Given the description of an element on the screen output the (x, y) to click on. 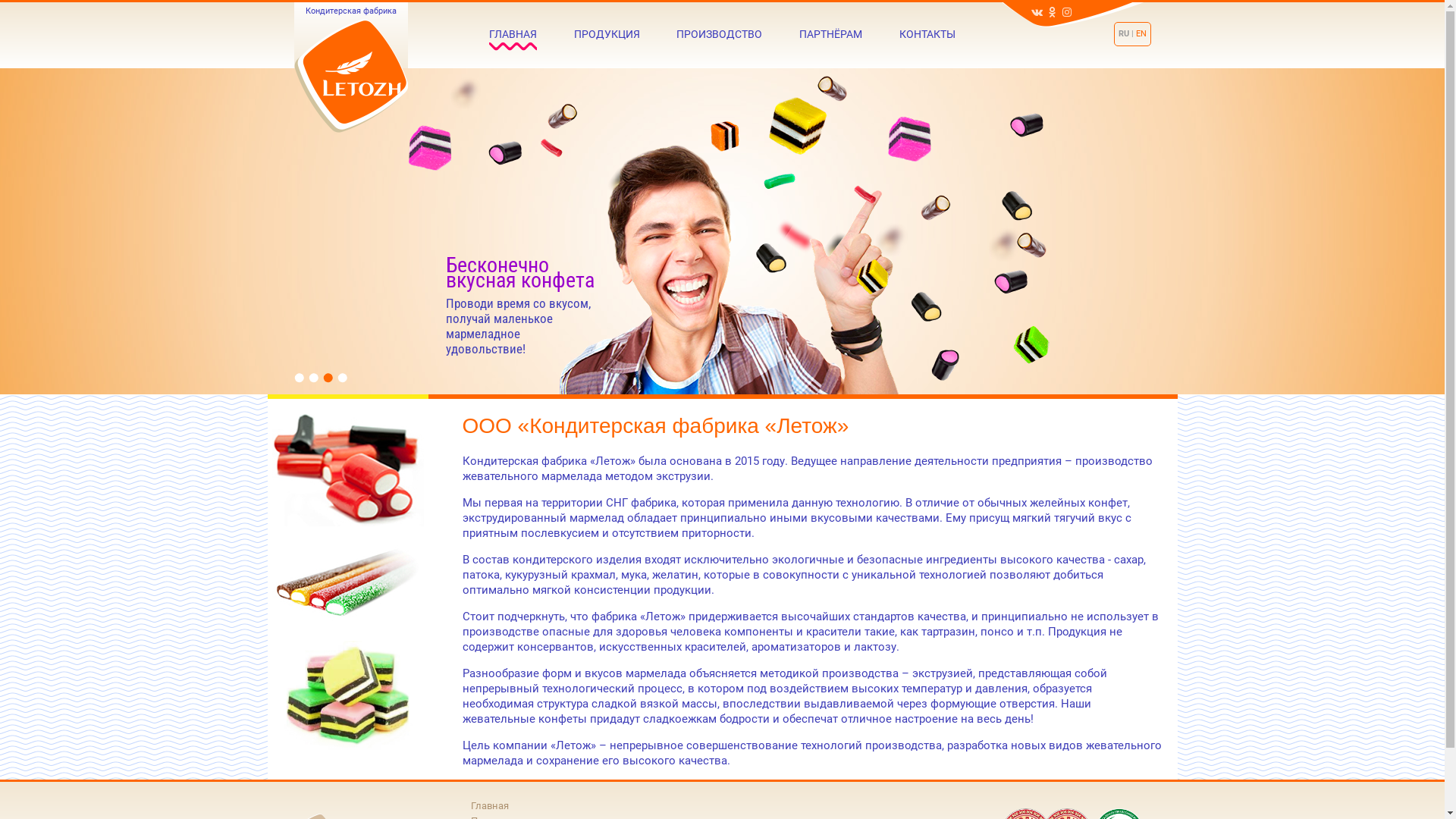
EN Element type: text (1140, 33)
